Given the description of an element on the screen output the (x, y) to click on. 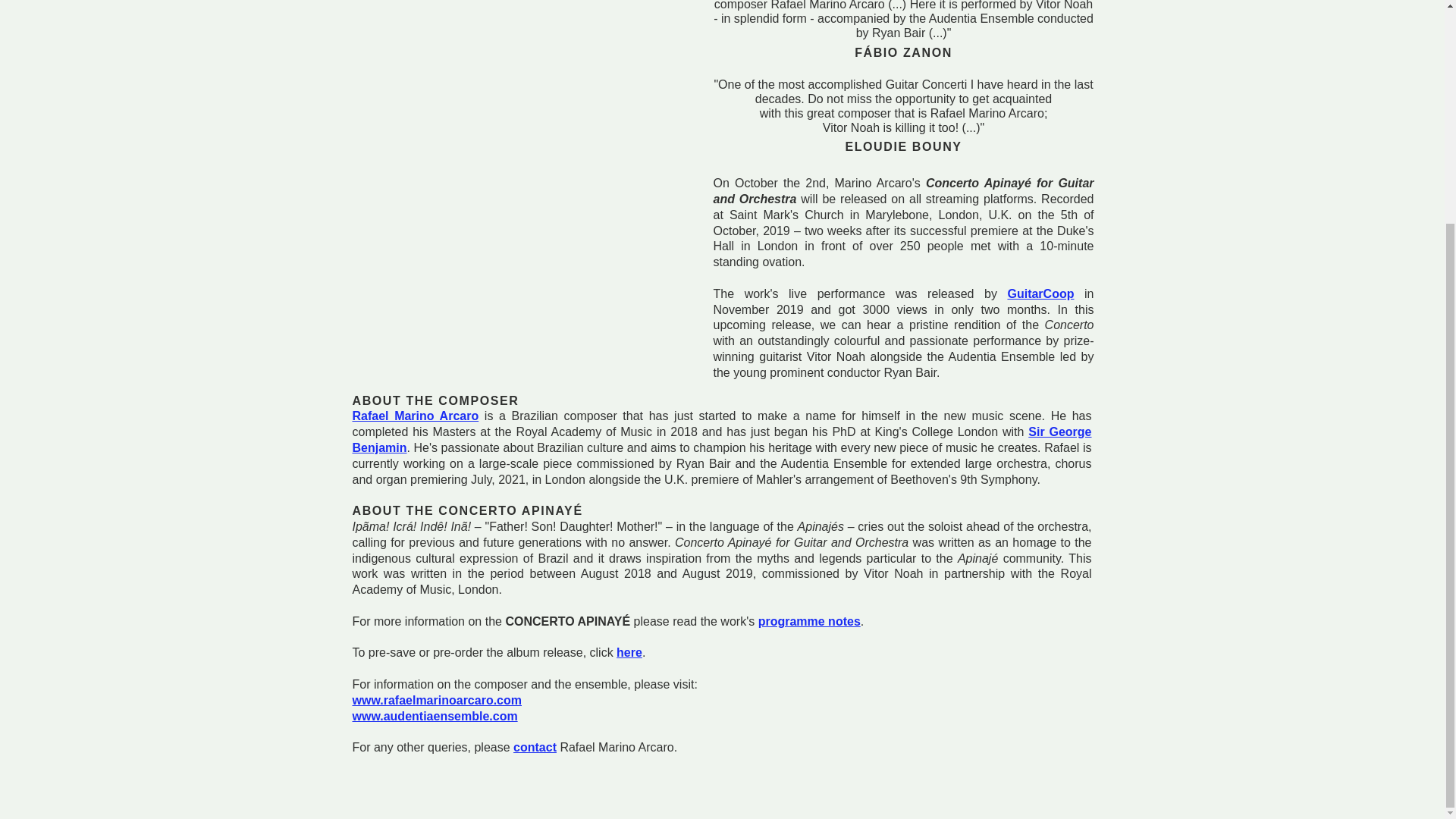
contact (534, 747)
here (628, 652)
www.rafaelmarinoarcaro.com (436, 699)
www.audentiaensemble.com (434, 716)
programme notes (809, 621)
GuitarCoop (1040, 293)
Rafael Marino Arcaro (415, 415)
Sir George Benjamin (721, 439)
